Given the description of an element on the screen output the (x, y) to click on. 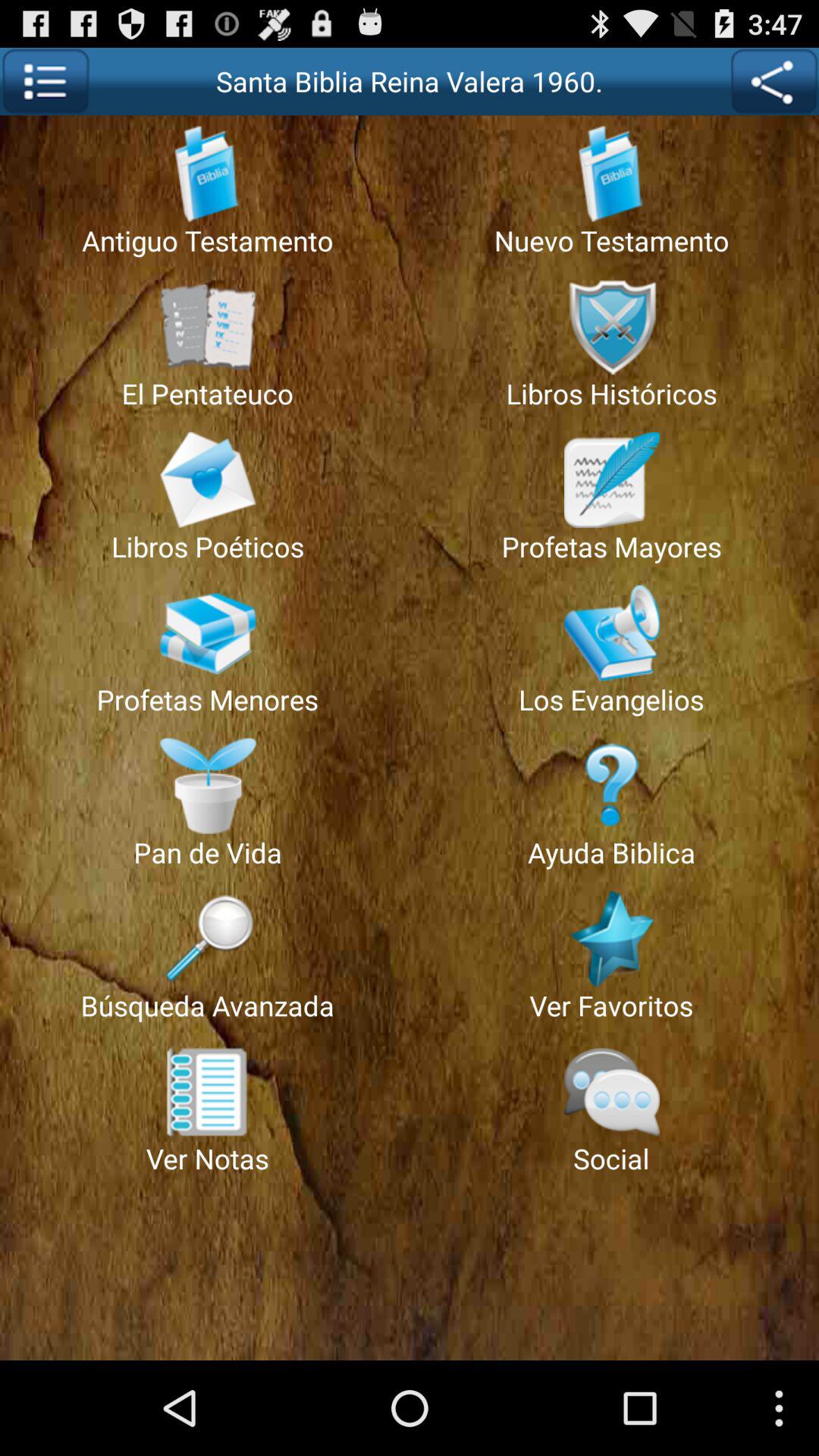
menu icon (45, 81)
